Given the description of an element on the screen output the (x, y) to click on. 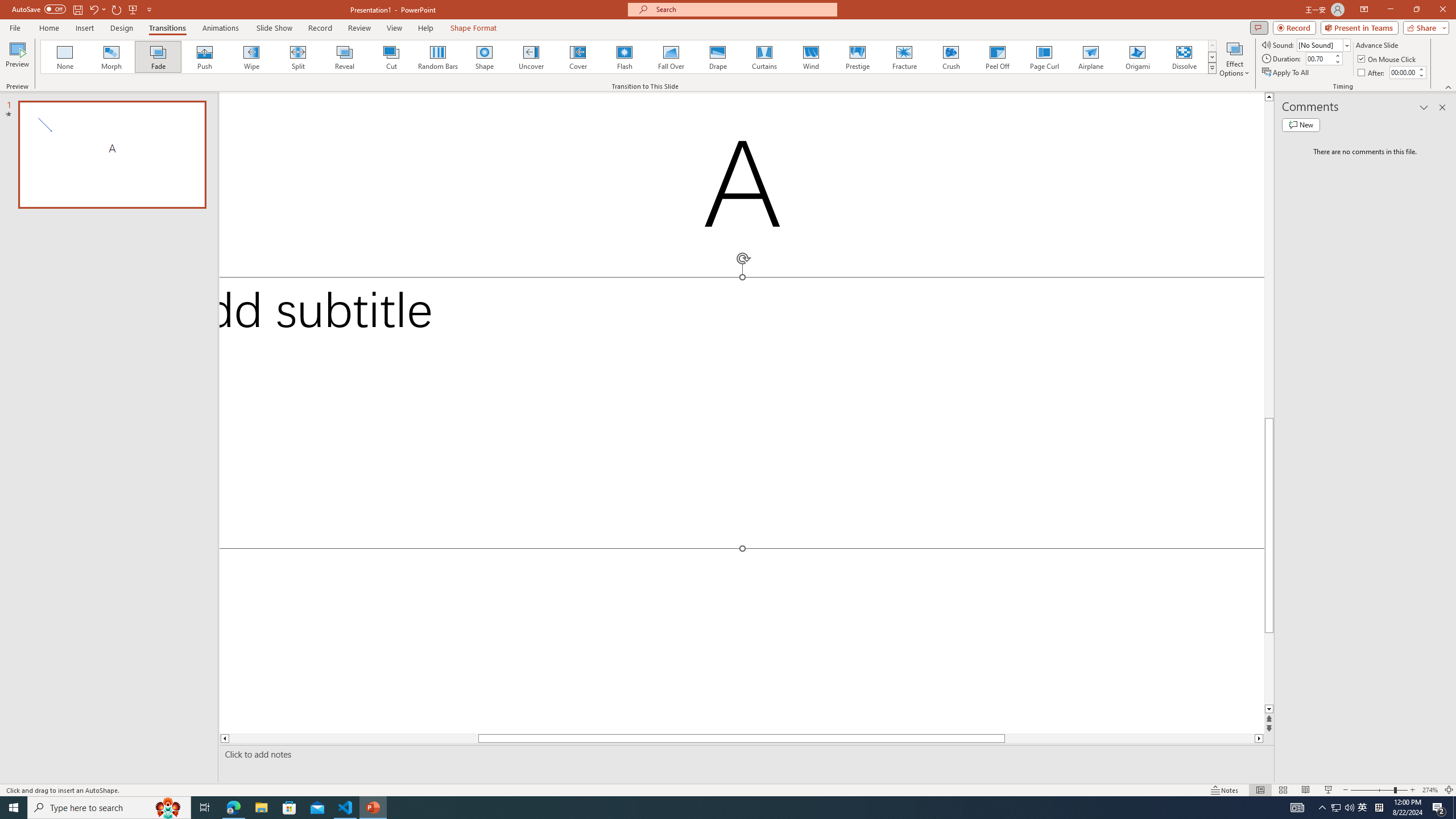
Apply To All (1286, 72)
